Given the description of an element on the screen output the (x, y) to click on. 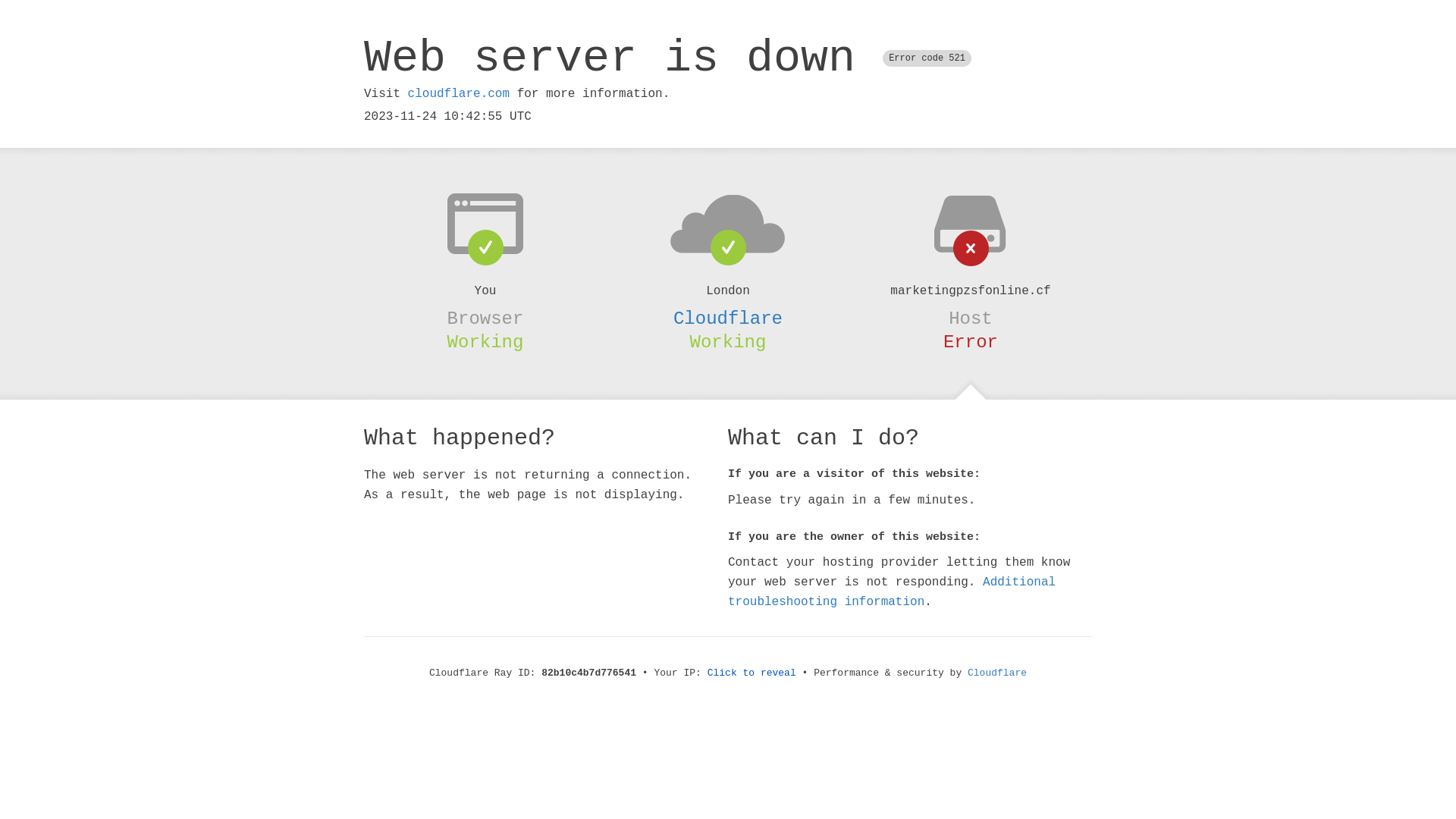
Cloudflare Element type: text (996, 672)
Click to reveal Element type: text (751, 672)
cloudflare.com Element type: text (458, 93)
Cloudflare Element type: text (727, 318)
Additional troubleshooting information Element type: text (891, 591)
